Given the description of an element on the screen output the (x, y) to click on. 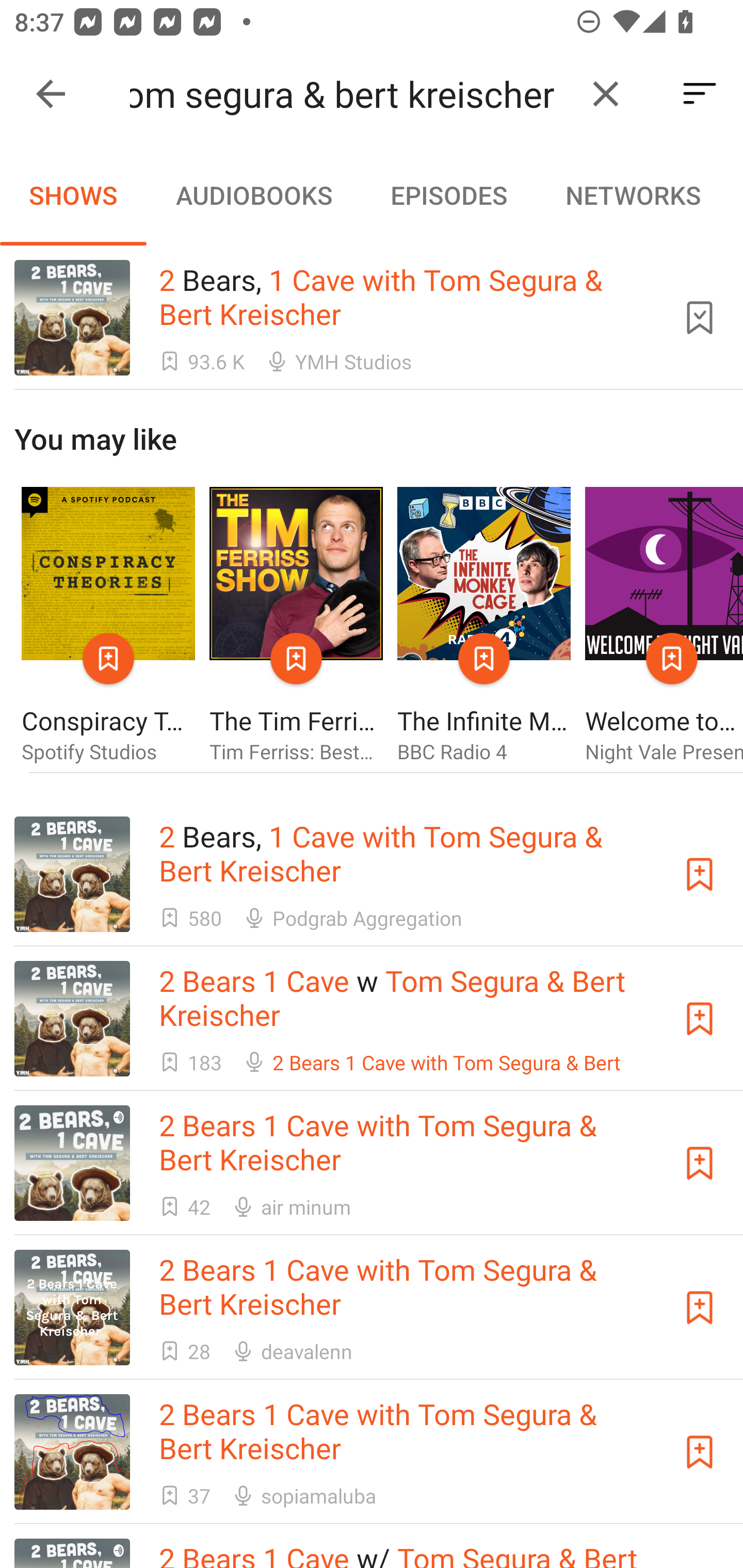
Collapse (50, 93)
Clear query (605, 93)
Sort By (699, 93)
2 bears 1 cave with tom segura & bert kreischer (349, 94)
SHOWS (73, 195)
AUDIOBOOKS (253, 195)
EPISODES (448, 195)
NETWORKS (632, 195)
Unsubscribe (699, 317)
Conspiracy Theories Spotify Studios (107, 626)
The Infinite Monkey Cage BBC Radio 4 (483, 626)
Welcome to Night Vale Night Vale Presents (664, 626)
Subscribe (699, 873)
Subscribe (699, 1019)
Subscribe (699, 1163)
Subscribe (699, 1307)
Subscribe (699, 1451)
